Given the description of an element on the screen output the (x, y) to click on. 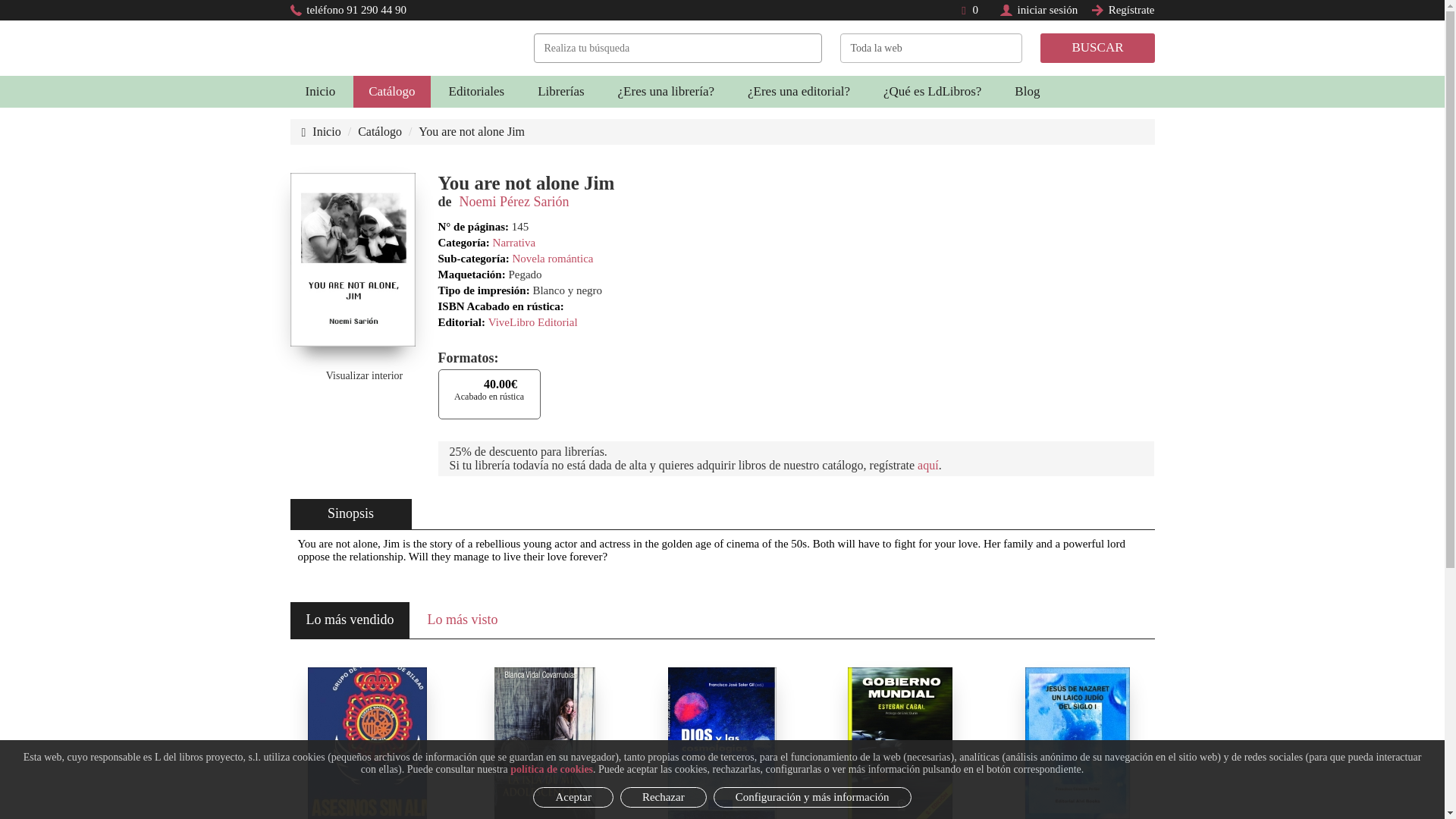
Editoriales (476, 91)
phone (295, 9)
Aceptar (572, 797)
Rechazar (663, 797)
Narrativa (514, 242)
BUSCAR (1097, 47)
Inicio (320, 131)
Visualizar interior (352, 375)
Visualizar interior (352, 375)
Blog (1026, 91)
0 (969, 9)
ViveLibro Editorial (532, 321)
Inicio (319, 91)
registro (1098, 9)
